Given the description of an element on the screen output the (x, y) to click on. 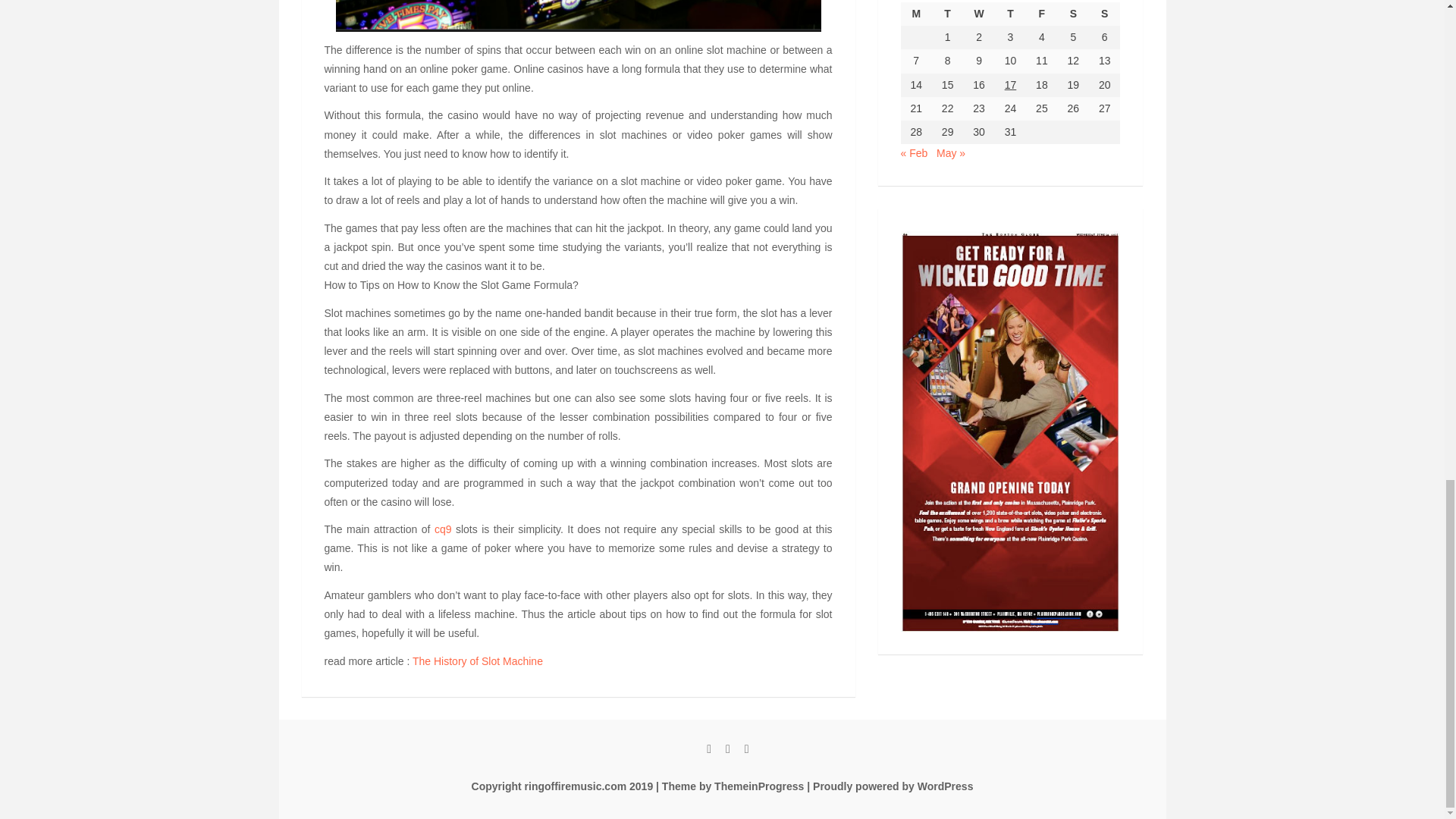
A Semantic Personal Publishing Platform (889, 786)
Friday (1041, 13)
Wednesday (978, 13)
Tuesday (946, 13)
The History of Slot Machine (477, 661)
Saturday (1073, 13)
Thursday (1010, 13)
Sunday (1104, 13)
Monday (916, 13)
cq9 (442, 529)
